Given the description of an element on the screen output the (x, y) to click on. 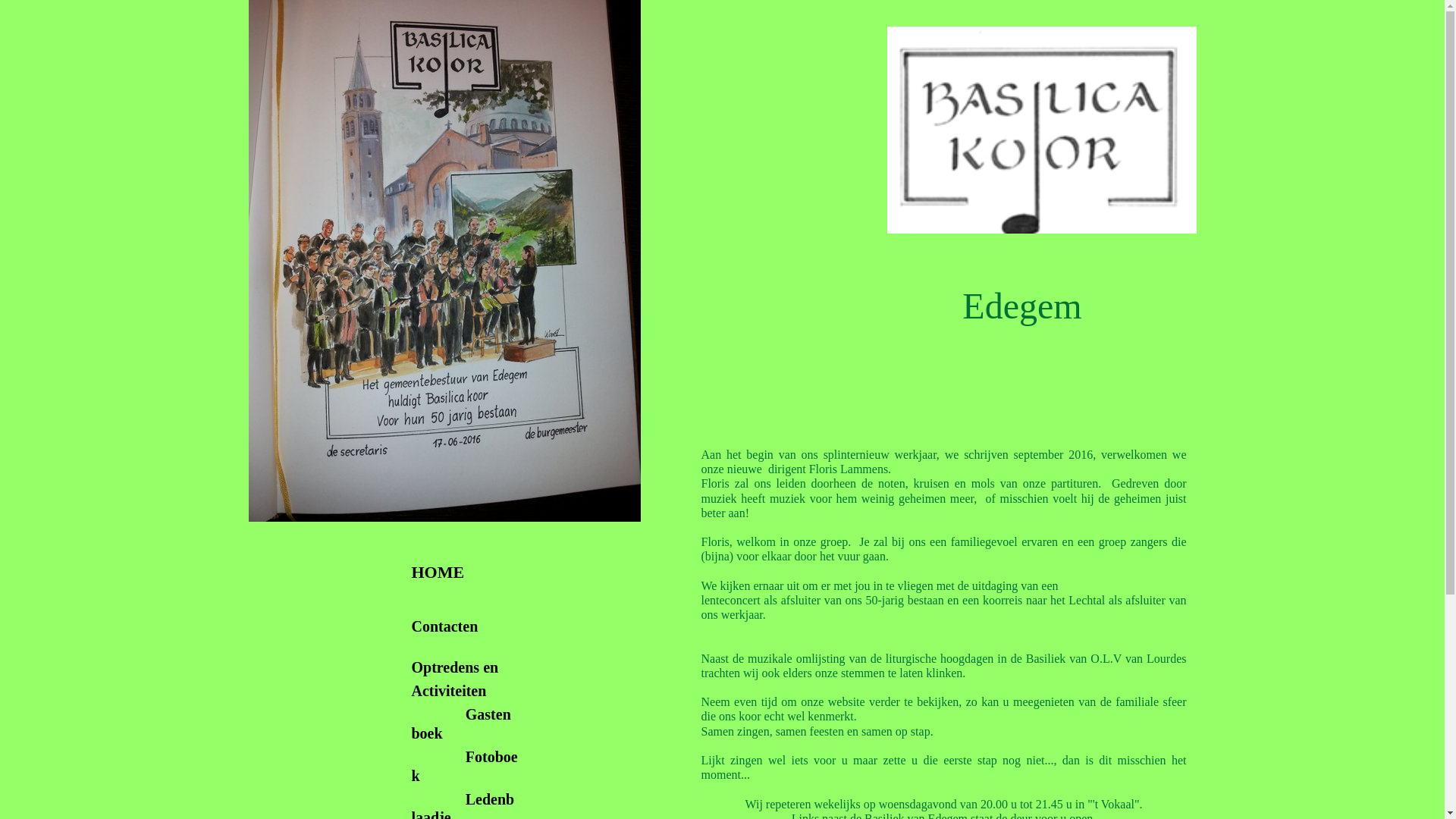
Activiteiten Element type: text (448, 692)
         HOME Element type: text (439, 564)
Contacten Element type: text (444, 628)
Gastenboek Element type: text (460, 725)
Fotoboek Element type: text (464, 768)
    Optredens en Element type: text (454, 659)
